Given the description of an element on the screen output the (x, y) to click on. 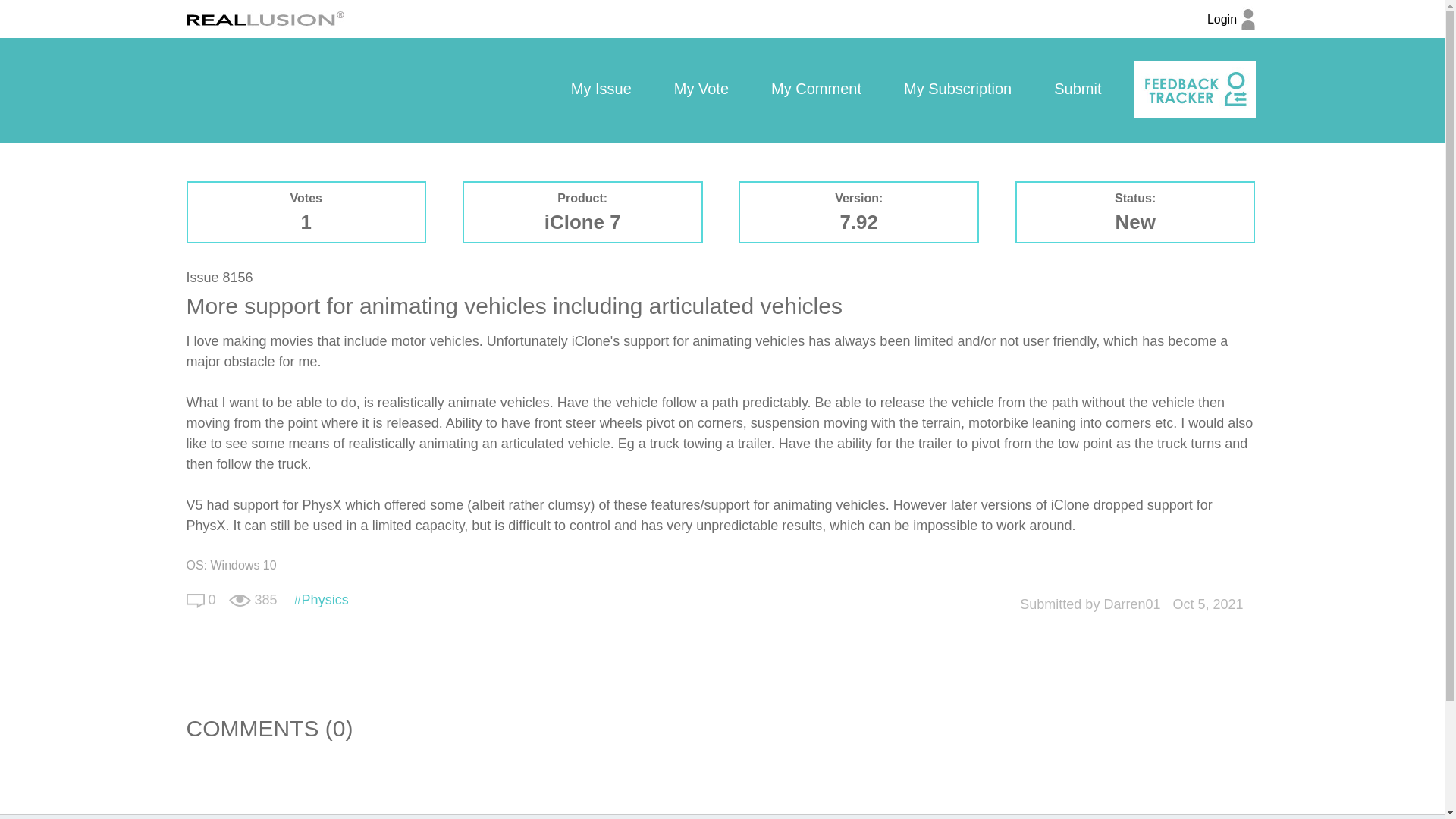
Reallusion (266, 18)
My Comment (815, 89)
Physics (321, 599)
My Vote (700, 89)
Submit (1076, 89)
My Subscription (957, 89)
Login (1231, 27)
My Issue (601, 89)
Comments (195, 600)
Feedback Tracker Home (1194, 88)
Views (239, 600)
